Given the description of an element on the screen output the (x, y) to click on. 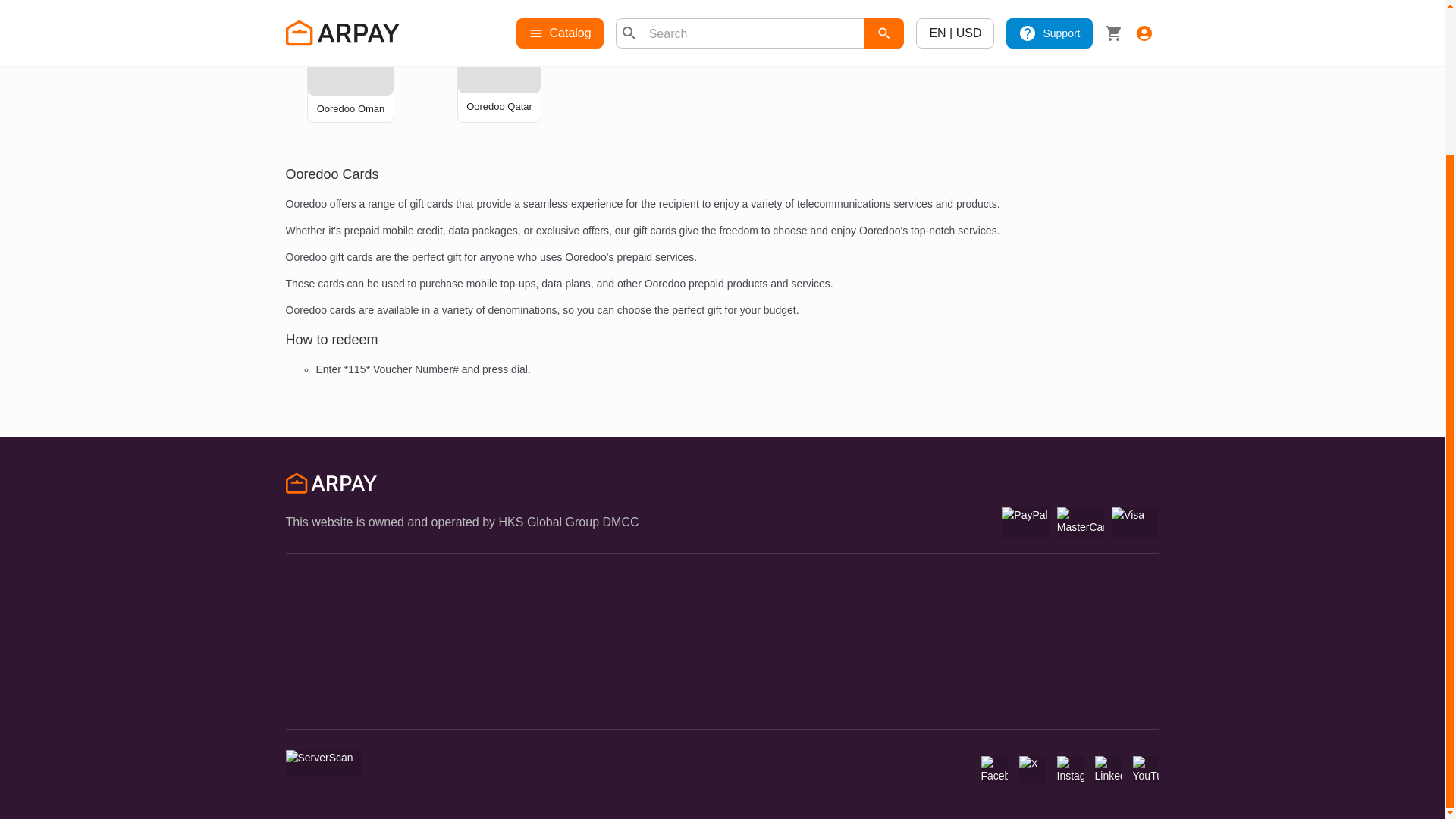
Ooredoo Oman (351, 108)
X (1032, 768)
Visa (1135, 521)
MasterCard (1080, 521)
Ooredoo Qatar (498, 106)
Ooredoo Qatar (499, 50)
Ooredoo Qatar (498, 106)
Ooredoo Oman (350, 52)
ar-pay.com (330, 485)
Ooredoo Oman (351, 108)
Facebook (994, 768)
PayPal (1024, 521)
ServerScan (323, 763)
